Given the description of an element on the screen output the (x, y) to click on. 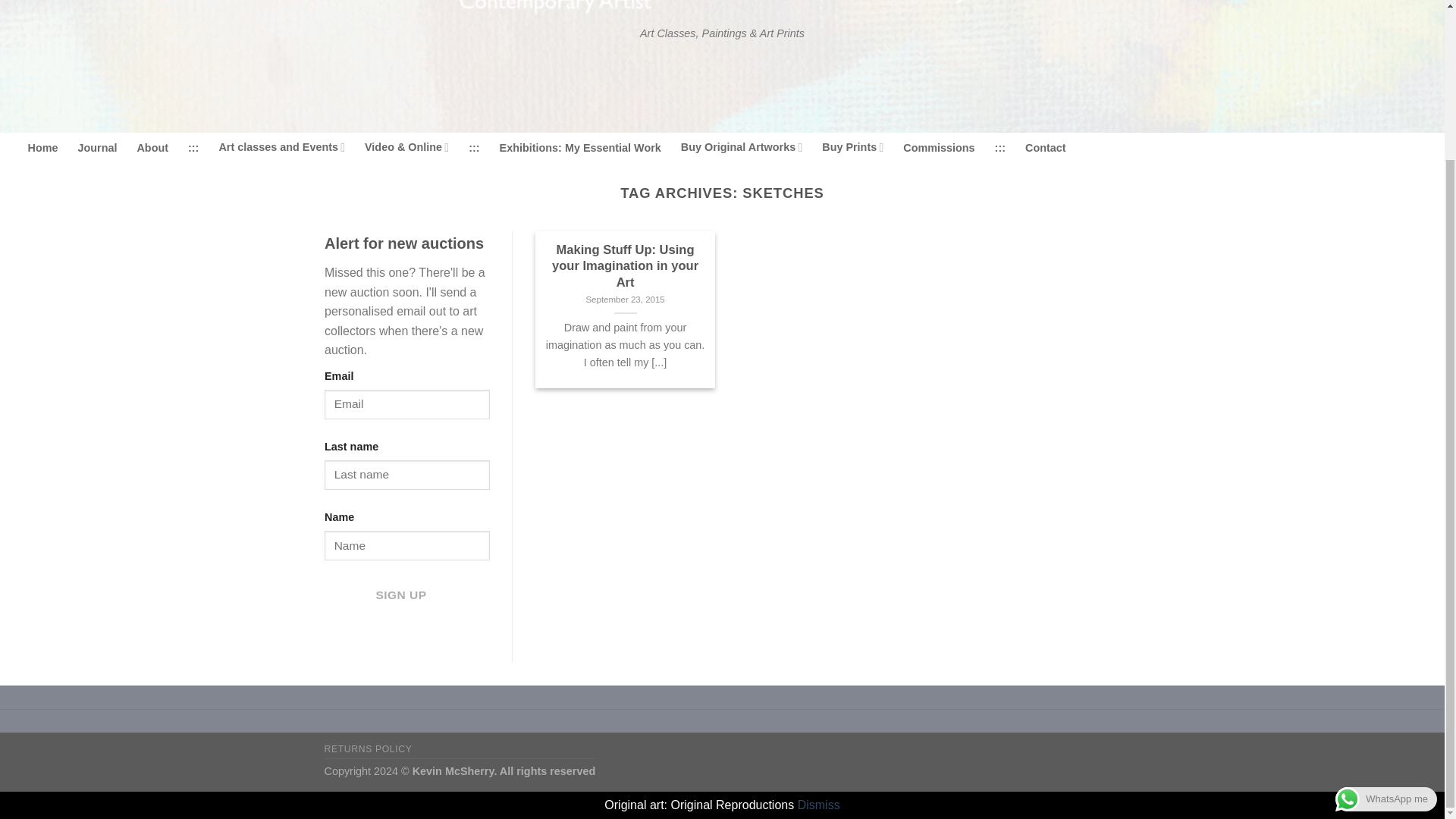
Buy Prints (852, 147)
Making Stuff Up: Using your Imagination in your Art (625, 266)
::: (473, 148)
Home (42, 148)
Journal (96, 148)
Art classes and Events (281, 147)
RETURNS POLICY (368, 748)
Buy Original Artworks (741, 147)
Exhibitions: My Essential Work (580, 148)
SIGN UP (400, 594)
Commissions (938, 148)
About (152, 148)
::: (192, 148)
Contact (1045, 148)
::: (1000, 148)
